Given the description of an element on the screen output the (x, y) to click on. 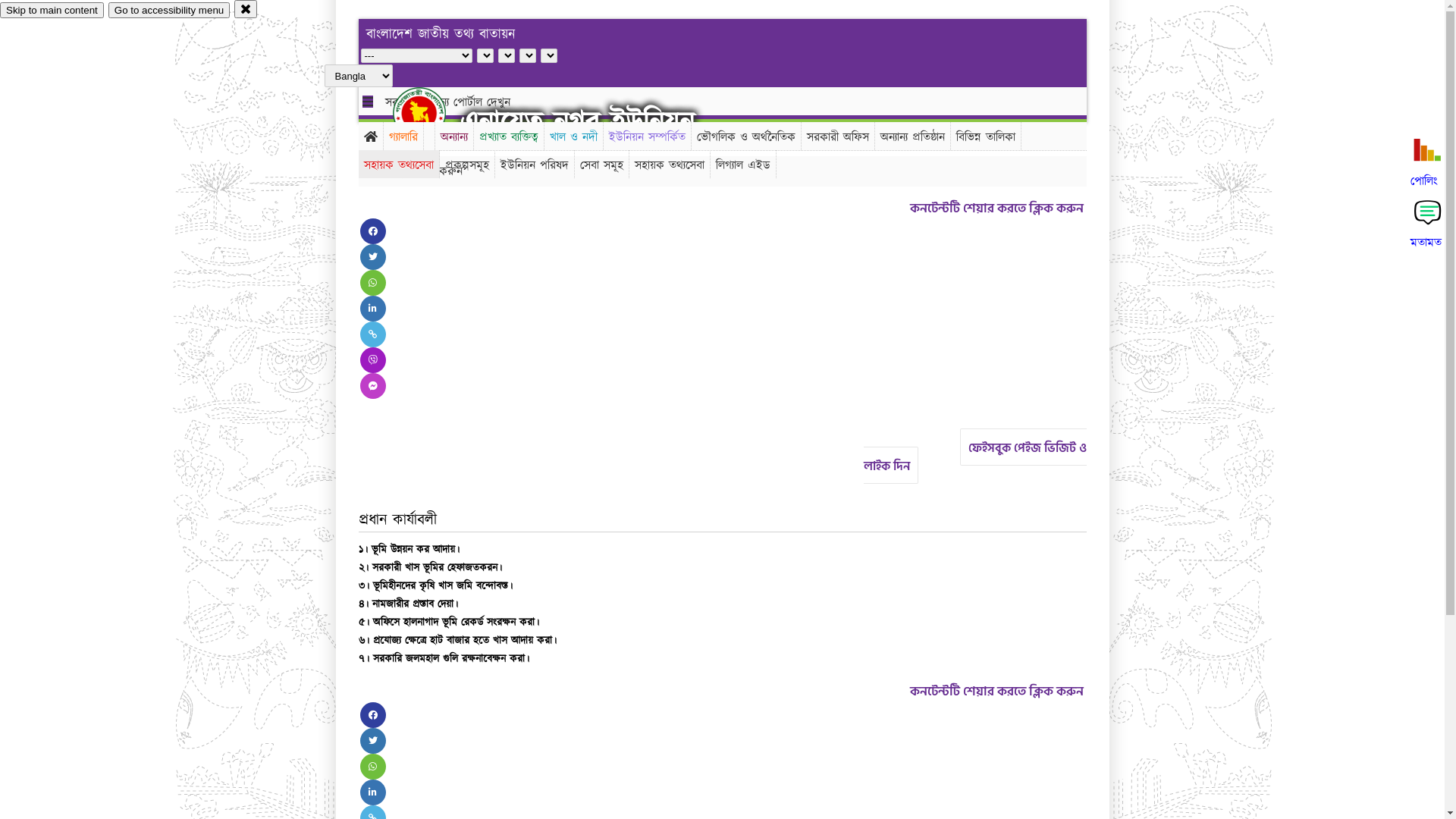

                
             Element type: hover (431, 112)
Go to accessibility menu Element type: text (168, 10)
Skip to main content Element type: text (51, 10)
close Element type: hover (245, 9)
